Given the description of an element on the screen output the (x, y) to click on. 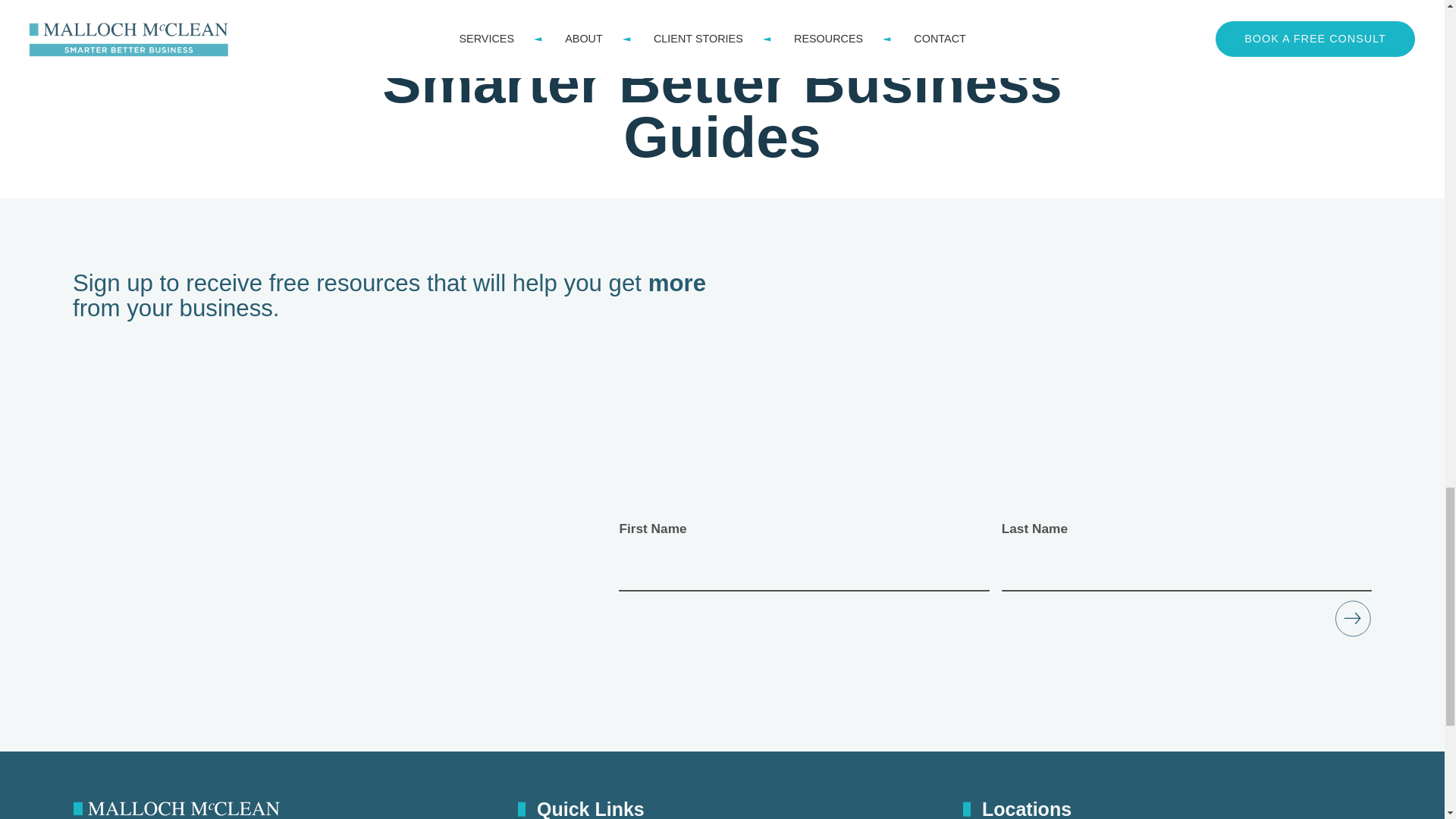
1 (1316, 315)
